Given the description of an element on the screen output the (x, y) to click on. 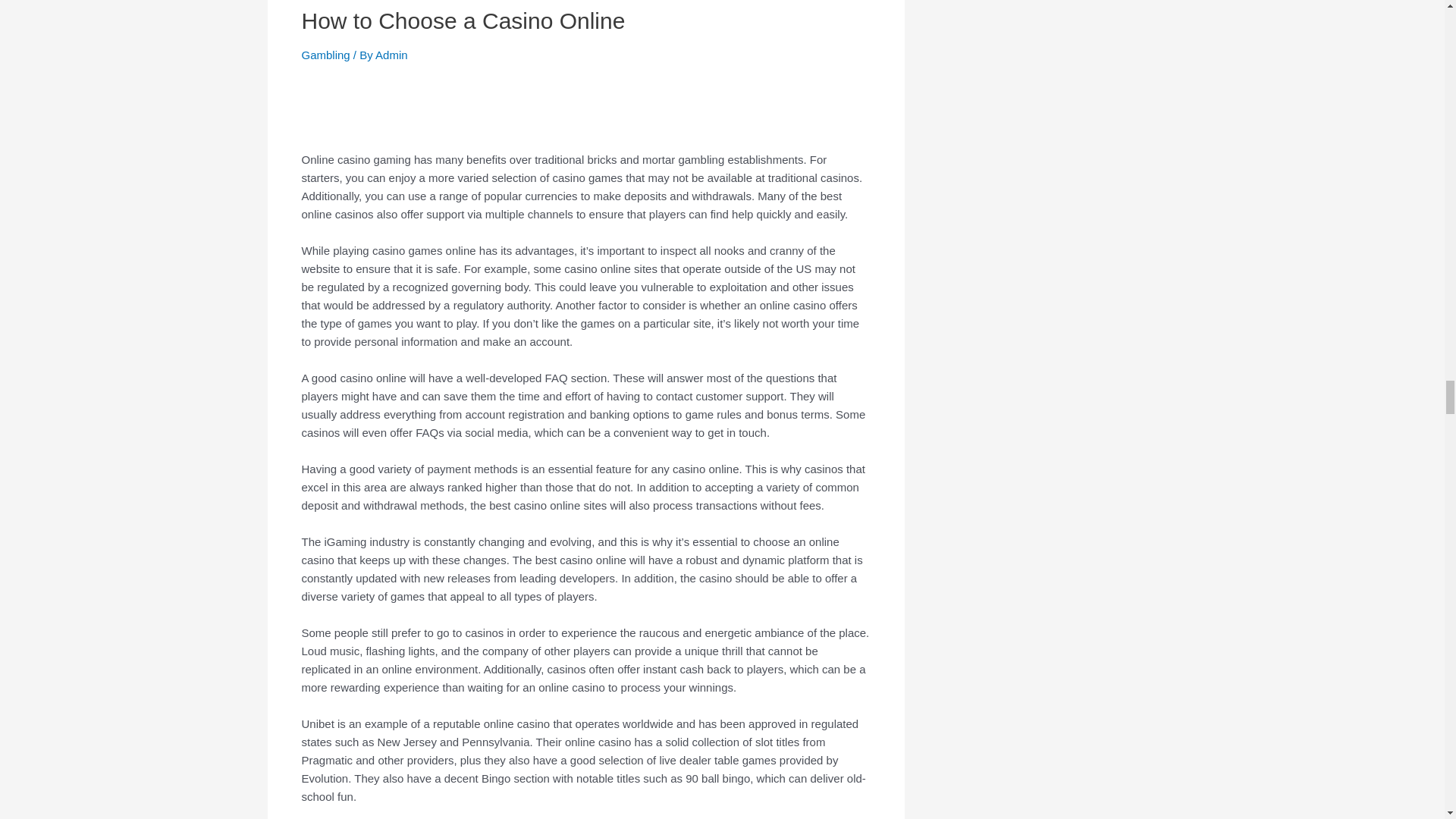
How to Choose a Casino Online (463, 20)
Gambling (325, 54)
View all posts by Admin (391, 54)
Admin (391, 54)
